Given the description of an element on the screen output the (x, y) to click on. 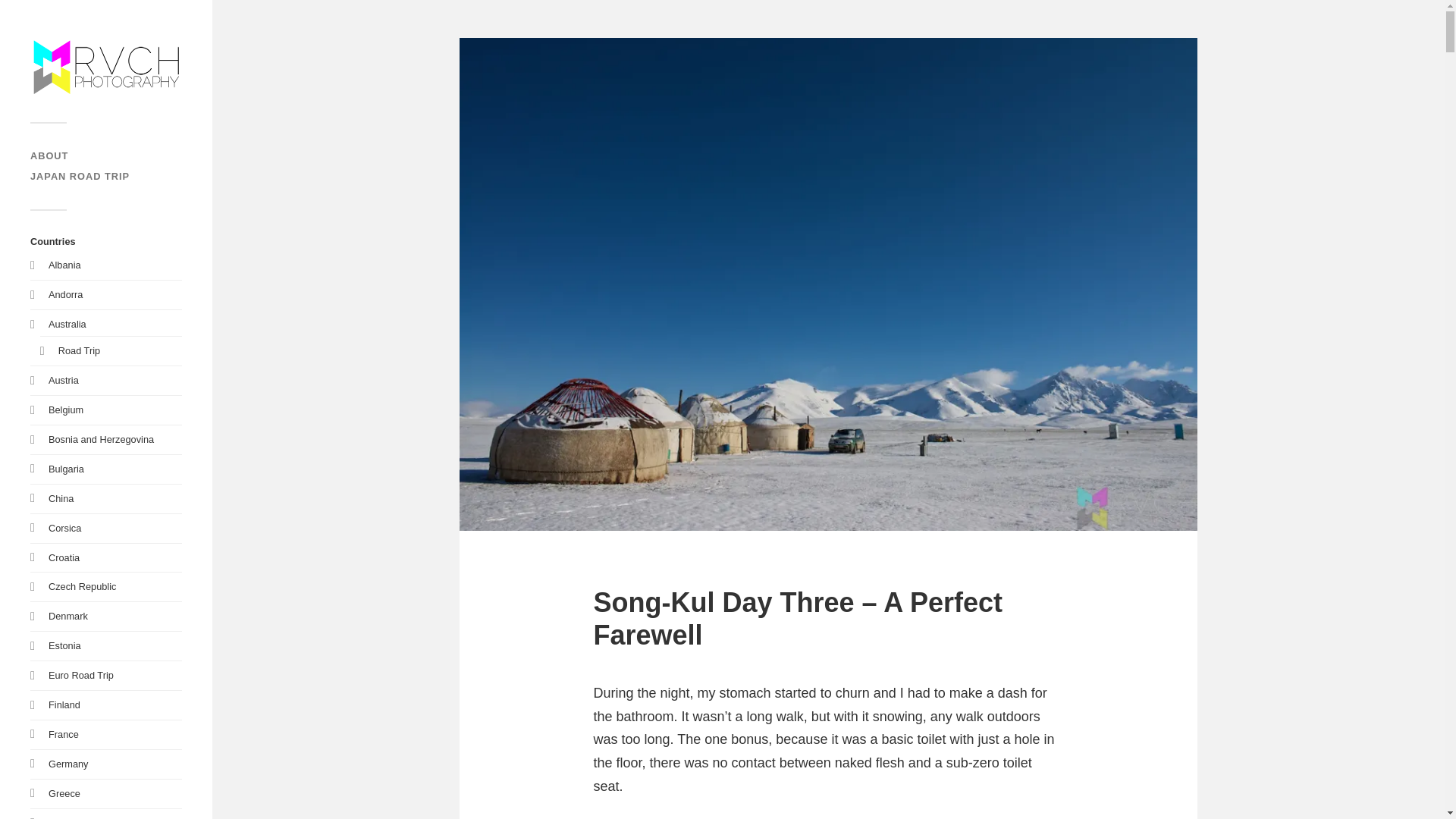
ABOUT (49, 155)
France (63, 734)
Euro Road Trip (80, 674)
Croatia (64, 557)
Andorra (65, 294)
JAPAN ROAD TRIP (79, 175)
Greece (64, 793)
Bulgaria (66, 469)
China (61, 498)
Albania (64, 265)
Hungary (66, 818)
Estonia (64, 645)
Czech Republic (82, 586)
Finland (64, 704)
Belgium (65, 409)
